Given the description of an element on the screen output the (x, y) to click on. 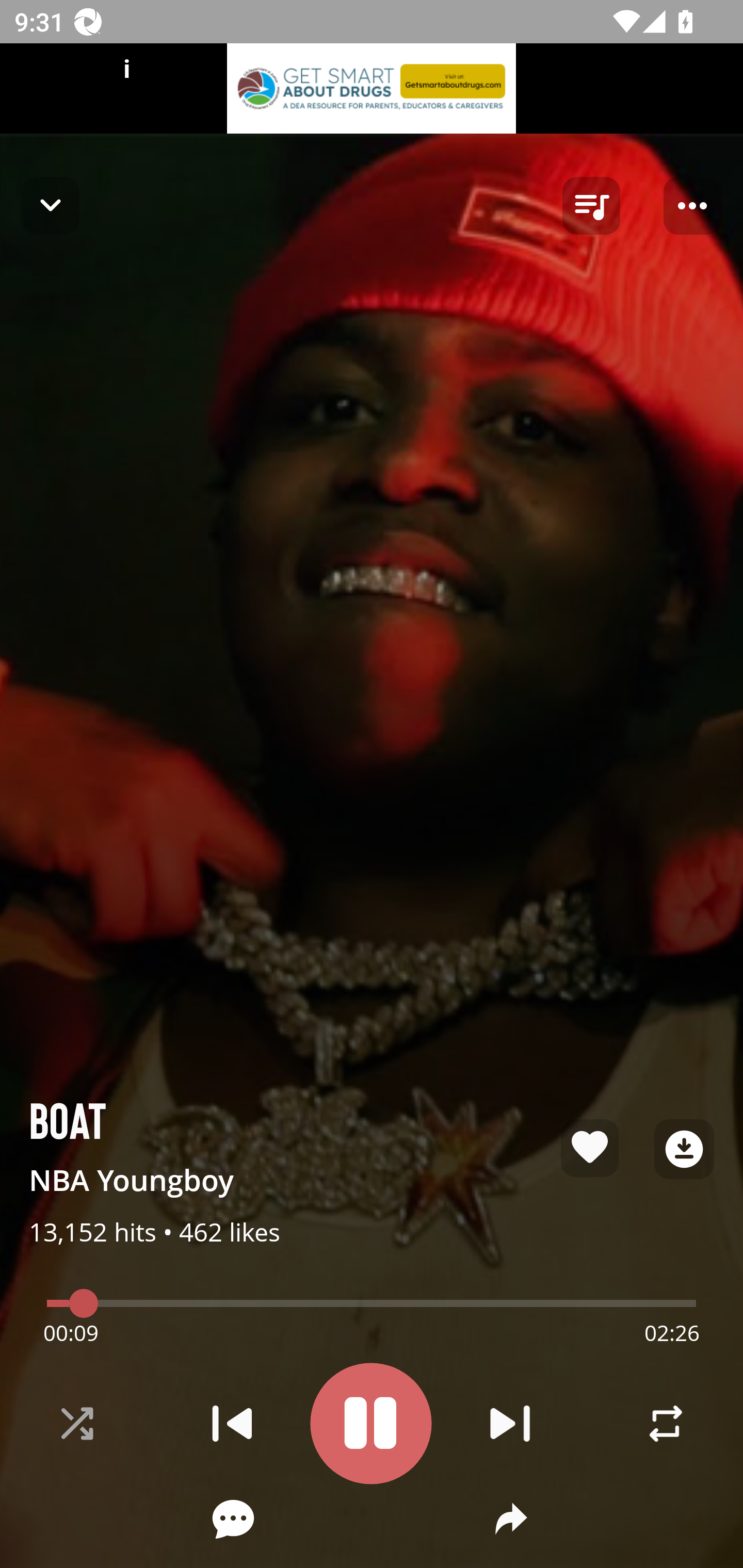
Navigate up (50, 205)
queue (590, 206)
Player options (692, 206)
